Given the description of an element on the screen output the (x, y) to click on. 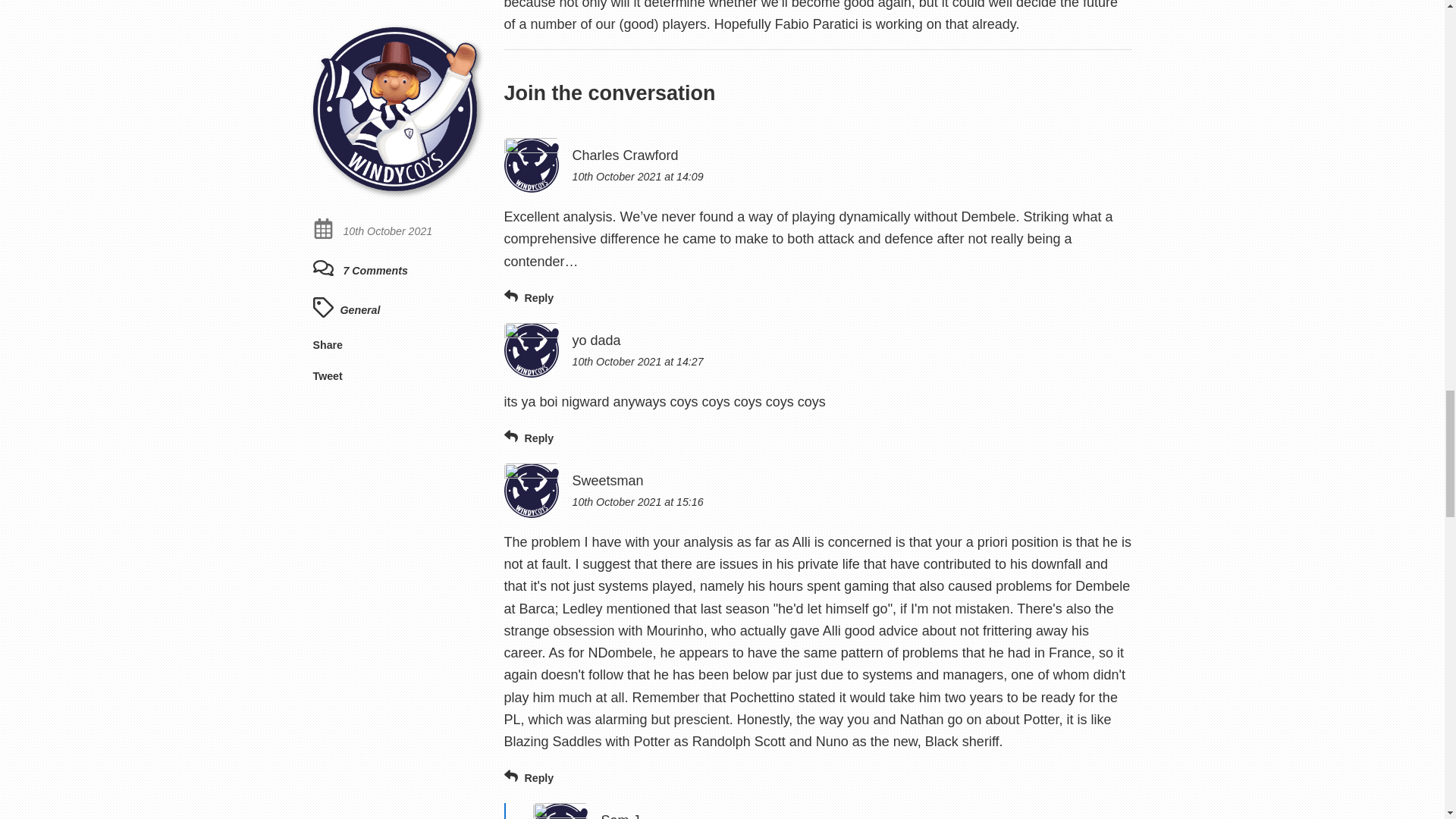
Reply (528, 296)
Reply (528, 437)
Reply (528, 776)
